Given the description of an element on the screen output the (x, y) to click on. 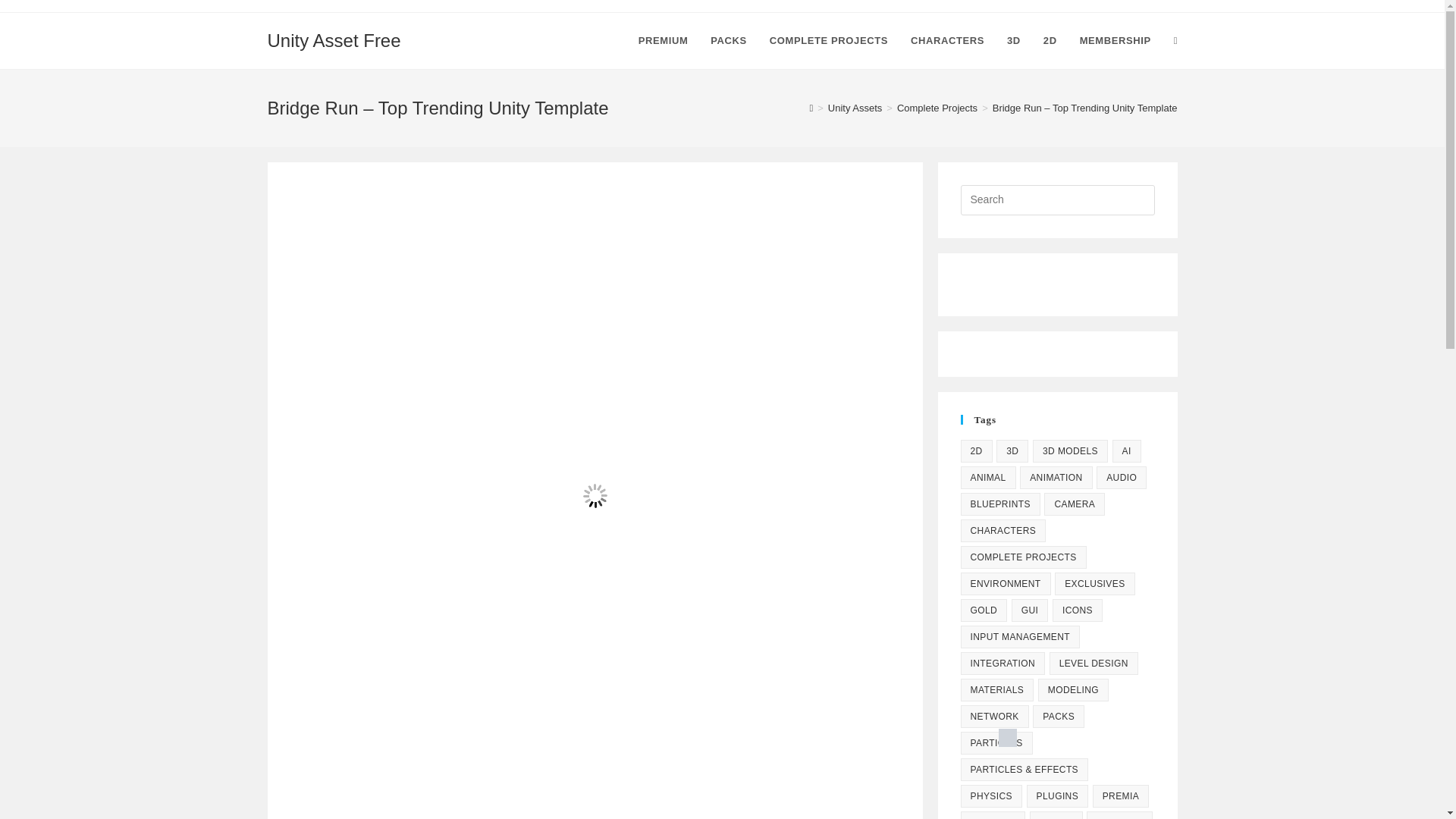
Unity Assets (855, 107)
PREMIUM (663, 40)
COMPLETE PROJECTS (828, 40)
Complete Projects (936, 107)
Unity Asset Free (333, 40)
MEMBERSHIP (1114, 40)
PACKS (728, 40)
CHARACTERS (947, 40)
2D (975, 450)
